Given the description of an element on the screen output the (x, y) to click on. 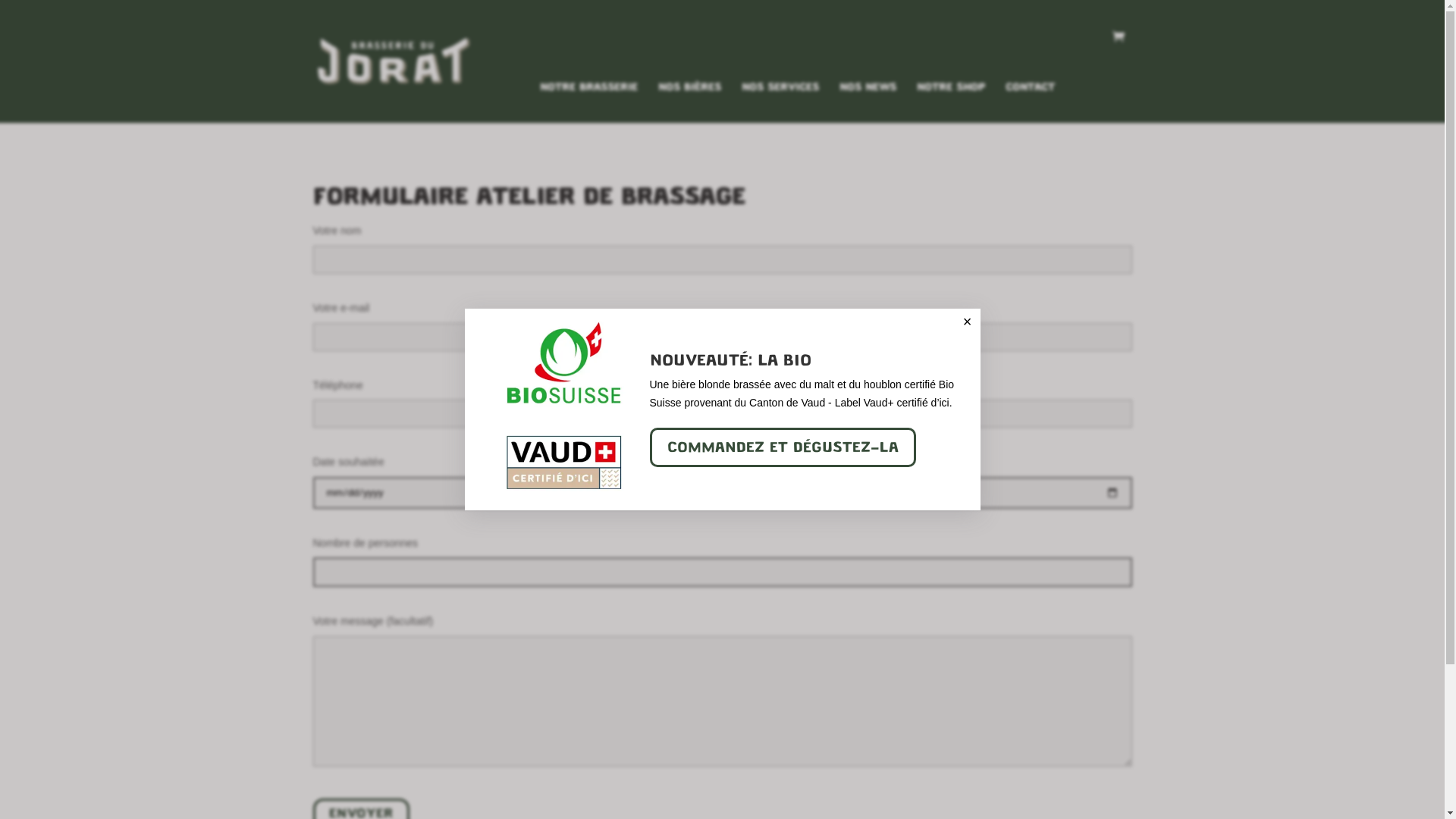
CONTACT Element type: text (1029, 101)
NOS NEWS Element type: text (866, 101)
NOTRE SHOP Element type: text (950, 101)
NOS SERVICES Element type: text (780, 101)
NOTRE BRASSERIE Element type: text (588, 101)
